Given the description of an element on the screen output the (x, y) to click on. 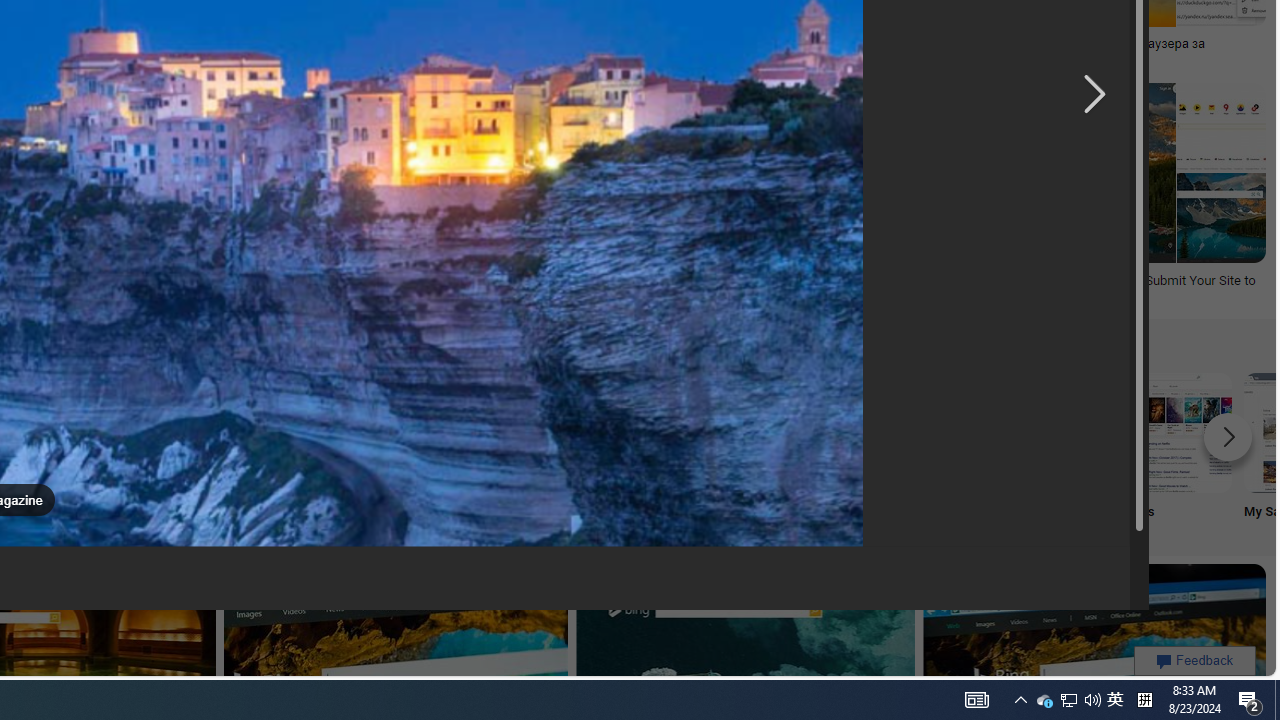
New Bing Image Search (775, 432)
Bing Movies Search Movies (1171, 450)
Intelligent (643, 450)
New (775, 450)
Bing Can Now Search for Any Object in an Image (710, 44)
Bing Search Tricks (1039, 432)
Engine (248, 450)
Bing the Search Engine Engine (248, 450)
Bing Search Tricks Tricks (1039, 450)
Scroll more suggestions right (1227, 436)
Bing Intelligent Search (643, 432)
Movies (1171, 450)
Bar Install (380, 450)
